Given the description of an element on the screen output the (x, y) to click on. 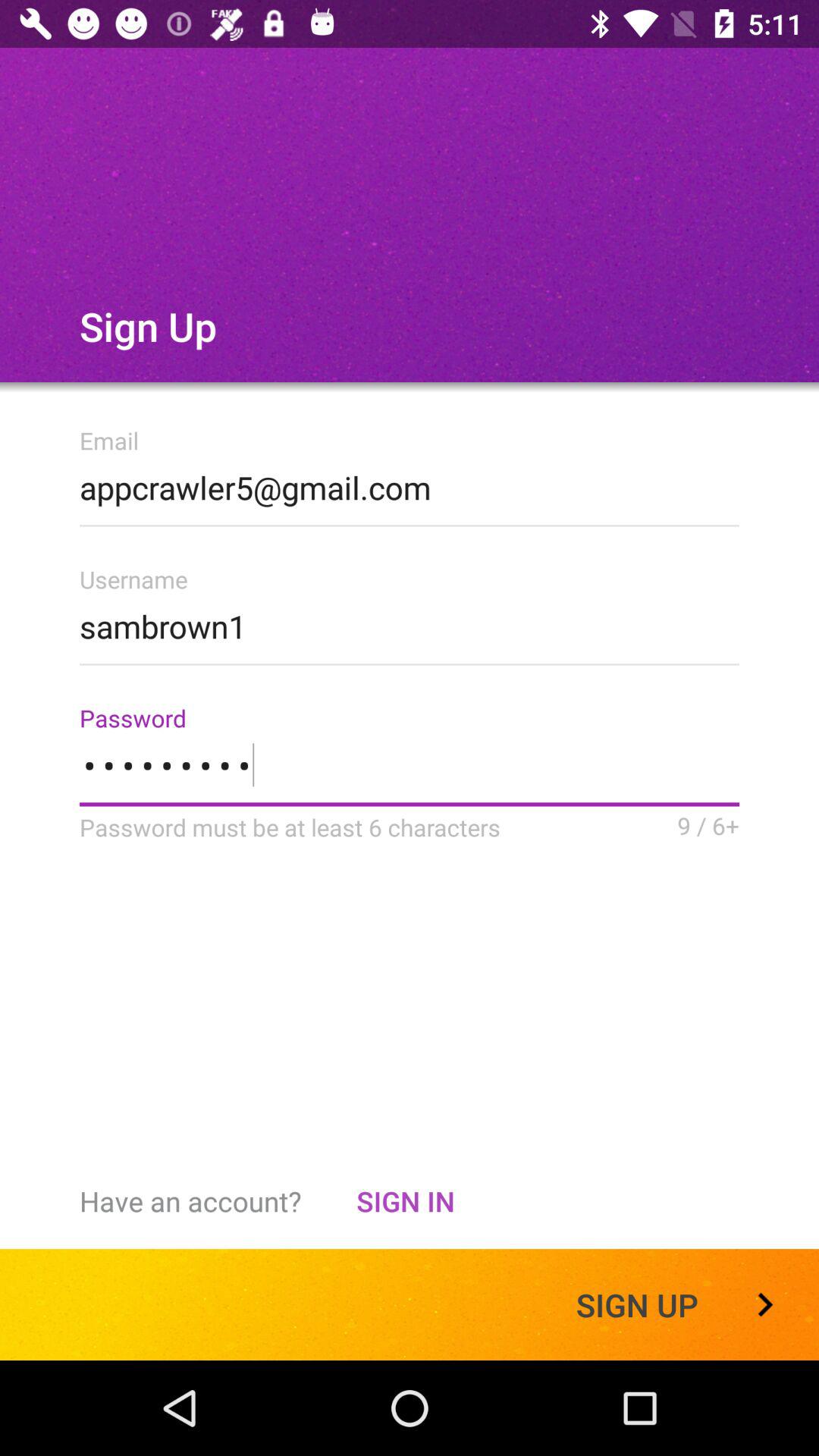
choose item next to the sign up icon (405, 1200)
